Given the description of an element on the screen output the (x, y) to click on. 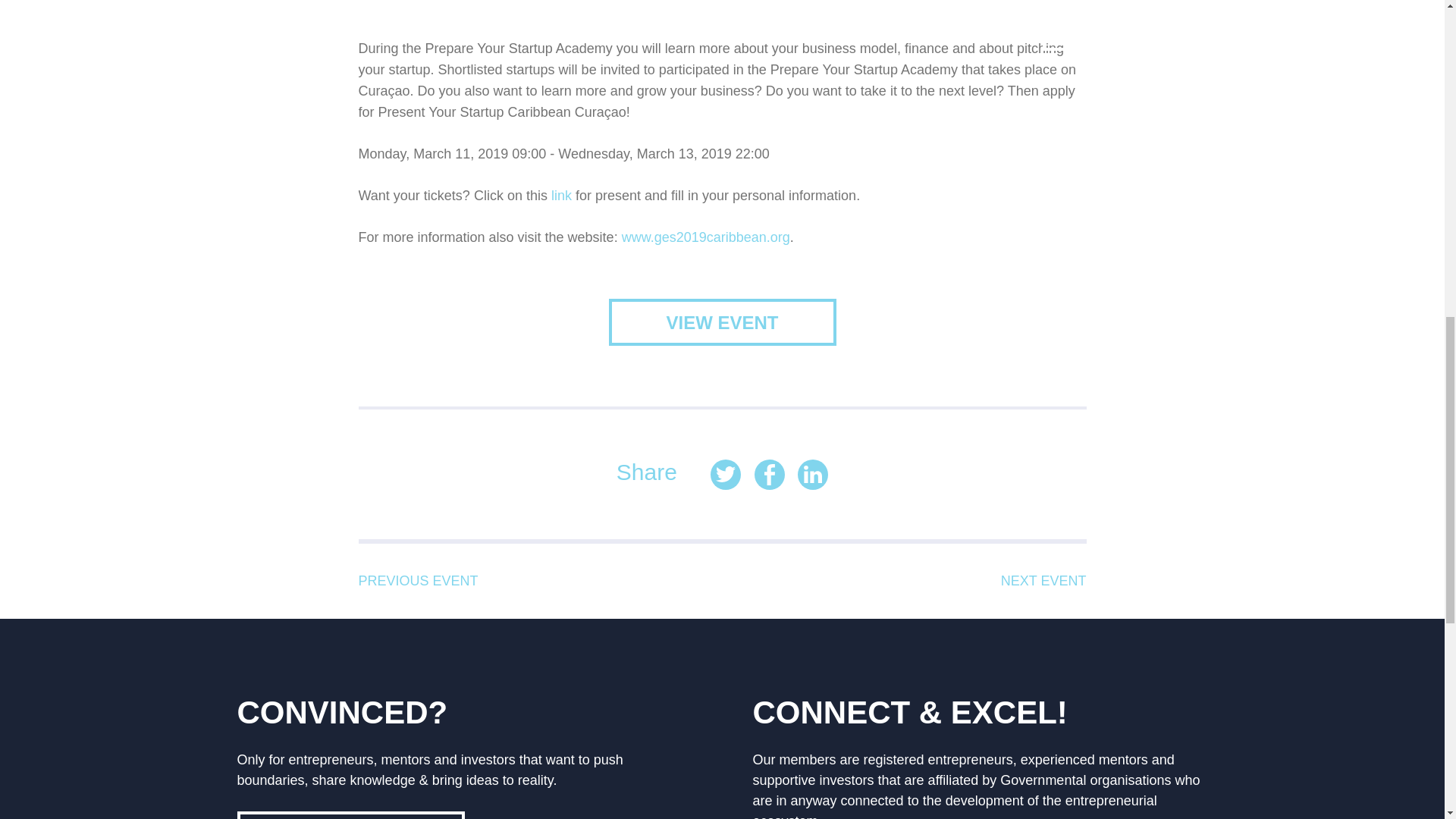
VIEW EVENT (721, 321)
Twitter (725, 474)
PREVIOUS EVENT (417, 580)
JOIN US (349, 815)
Facebook (769, 474)
NEXT EVENT (1043, 580)
www.ges2019caribbean.org (705, 237)
link (561, 195)
LinkedIn (812, 474)
